Given the description of an element on the screen output the (x, y) to click on. 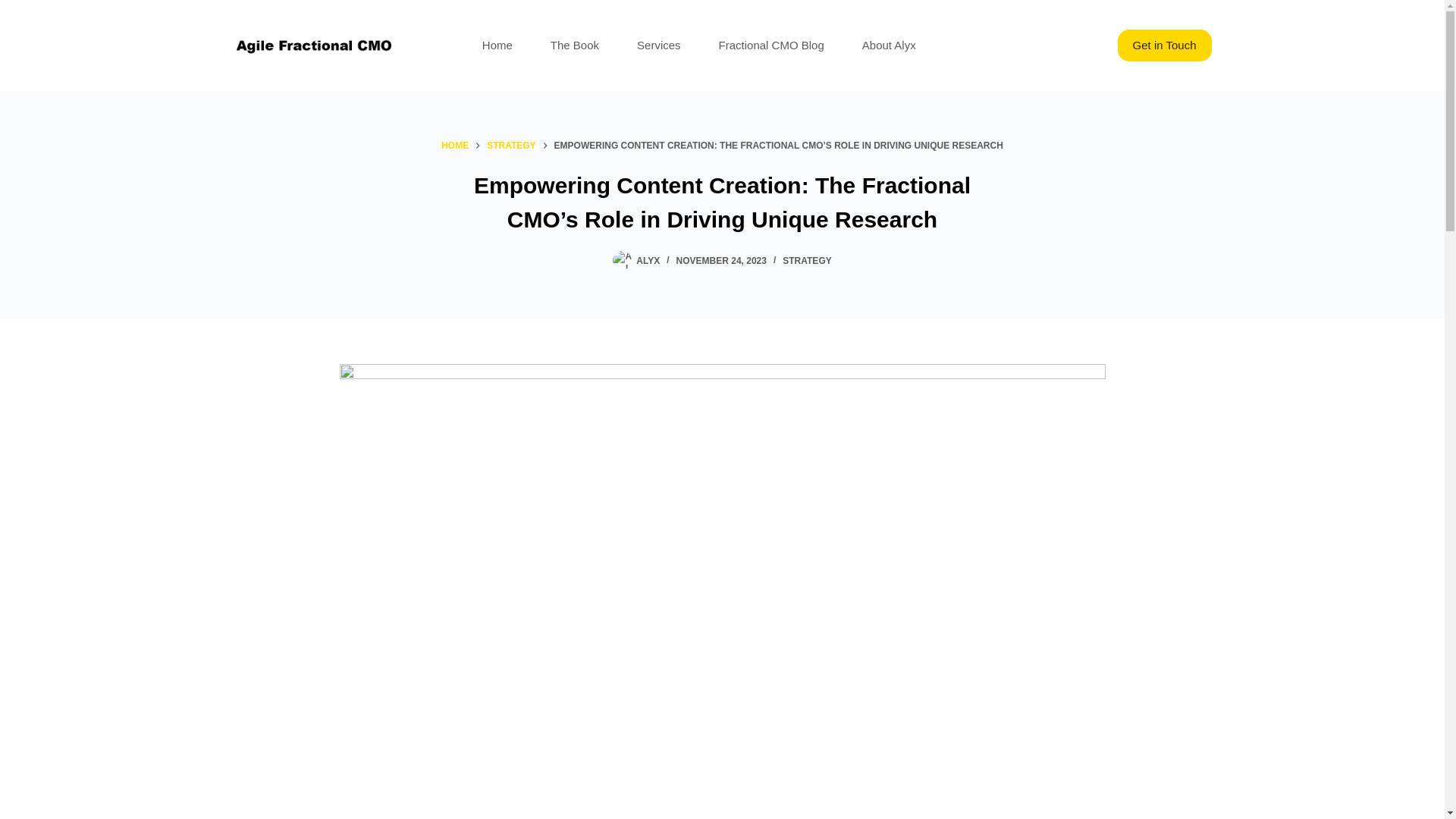
The Book (574, 45)
Skip to content (15, 7)
HOME (454, 145)
Home (497, 45)
STRATEGY (510, 145)
Get in Touch (1164, 45)
Services (658, 45)
STRATEGY (807, 260)
Posts by alyx (647, 260)
About Alyx (888, 45)
